Given the description of an element on the screen output the (x, y) to click on. 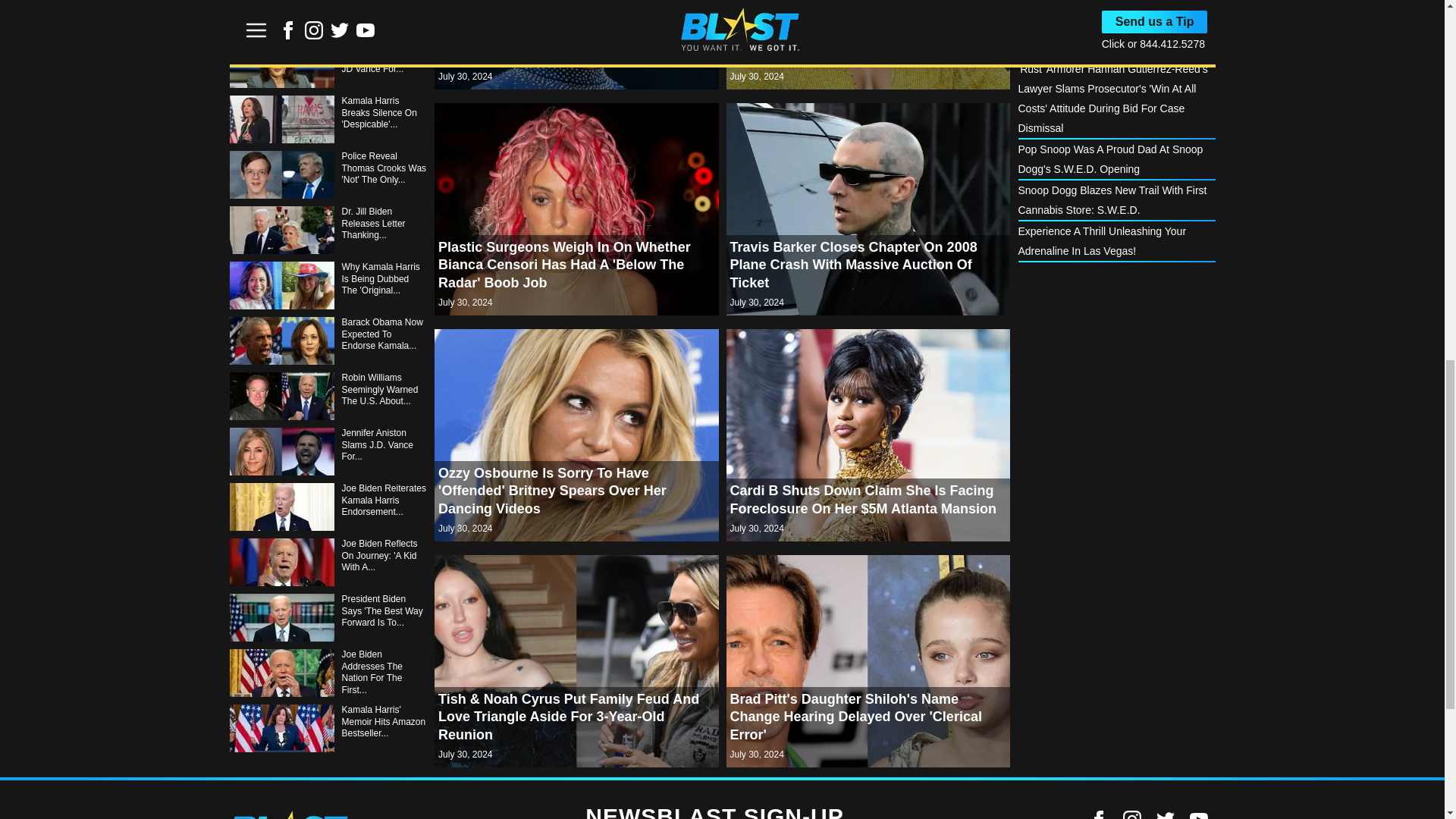
Joe Biden Reflects On Journey: 'A Kid With A... (327, 562)
Link to Twitter (1164, 814)
Link to Facebook (1097, 814)
Joe Biden Reiterates Kamala Harris Endorsement... (327, 506)
Robin Williams Seemingly Warned The U.S. About... (327, 396)
Barack Obama Now Expected To Endorse Kamala... (327, 340)
Kamala Harris' Stepdaughter Slams JD Vance For... (327, 63)
President Biden Says 'The Best Way Forward Is To... (327, 617)
Why Kamala Harris Is Being Dubbed The 'Original... (327, 285)
Link to Youtube (1198, 814)
Sharon Stone Vows To Flee The US For Italy If... (327, 16)
Jennifer Aniston Slams J.D. Vance For... (327, 451)
Dr. Jill Biden Releases Letter Thanking... (327, 229)
Police Reveal Thomas Crooks Was 'Not' The Only... (327, 174)
Kamala Harris Breaks Silence On 'Despicable'... (327, 119)
